Given the description of an element on the screen output the (x, y) to click on. 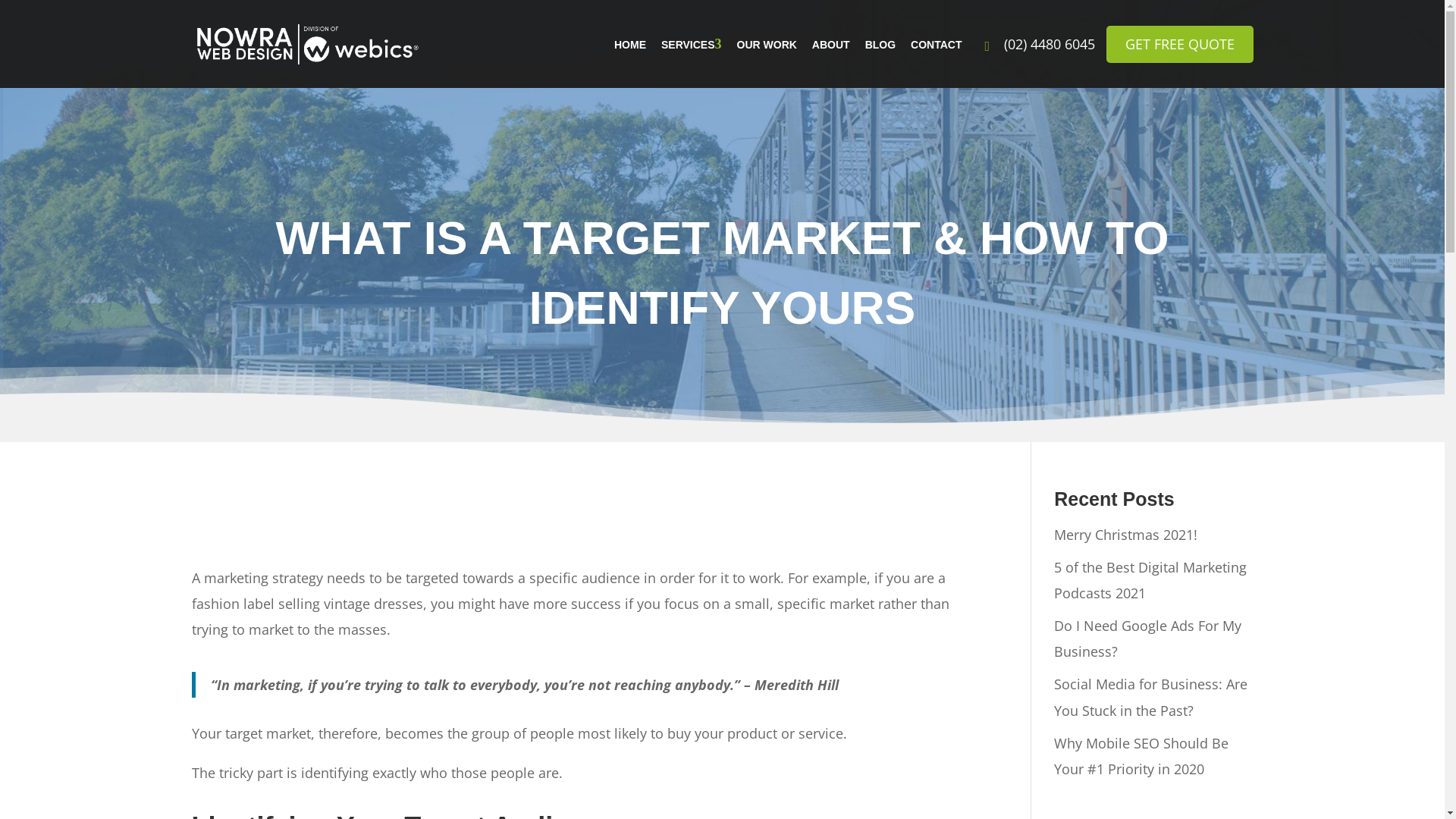
OUR WORK Element type: text (767, 44)
5 of the Best Digital Marketing Podcasts 2021 Element type: text (1150, 580)
Social Media for Business: Are You Stuck in the Past? Element type: text (1150, 696)
BLOG Element type: text (880, 44)
Why Mobile SEO Should Be Your #1 Priority in 2020 Element type: text (1141, 756)
GET FREE QUOTE Element type: text (1178, 43)
Do I Need Google Ads For My Business? Element type: text (1147, 638)
CONTACT Element type: text (935, 44)
HOME Element type: text (630, 44)
ABOUT Element type: text (831, 44)
(02) 4480 6045 Element type: text (1038, 43)
SERVICES Element type: text (688, 44)
Merry Christmas 2021! Element type: text (1125, 533)
